Given the description of an element on the screen output the (x, y) to click on. 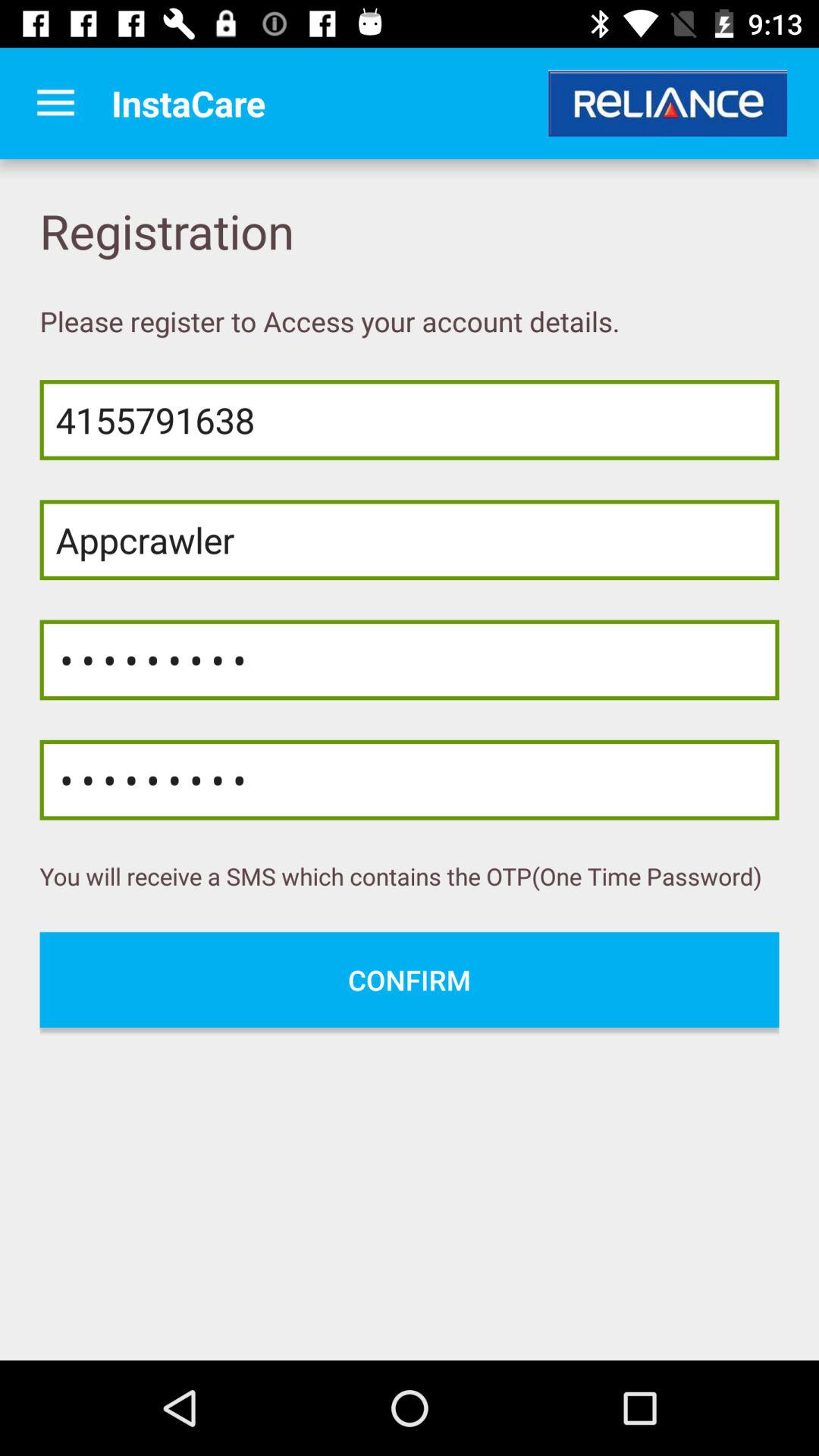
turn on icon to the left of instacare item (55, 103)
